Given the description of an element on the screen output the (x, y) to click on. 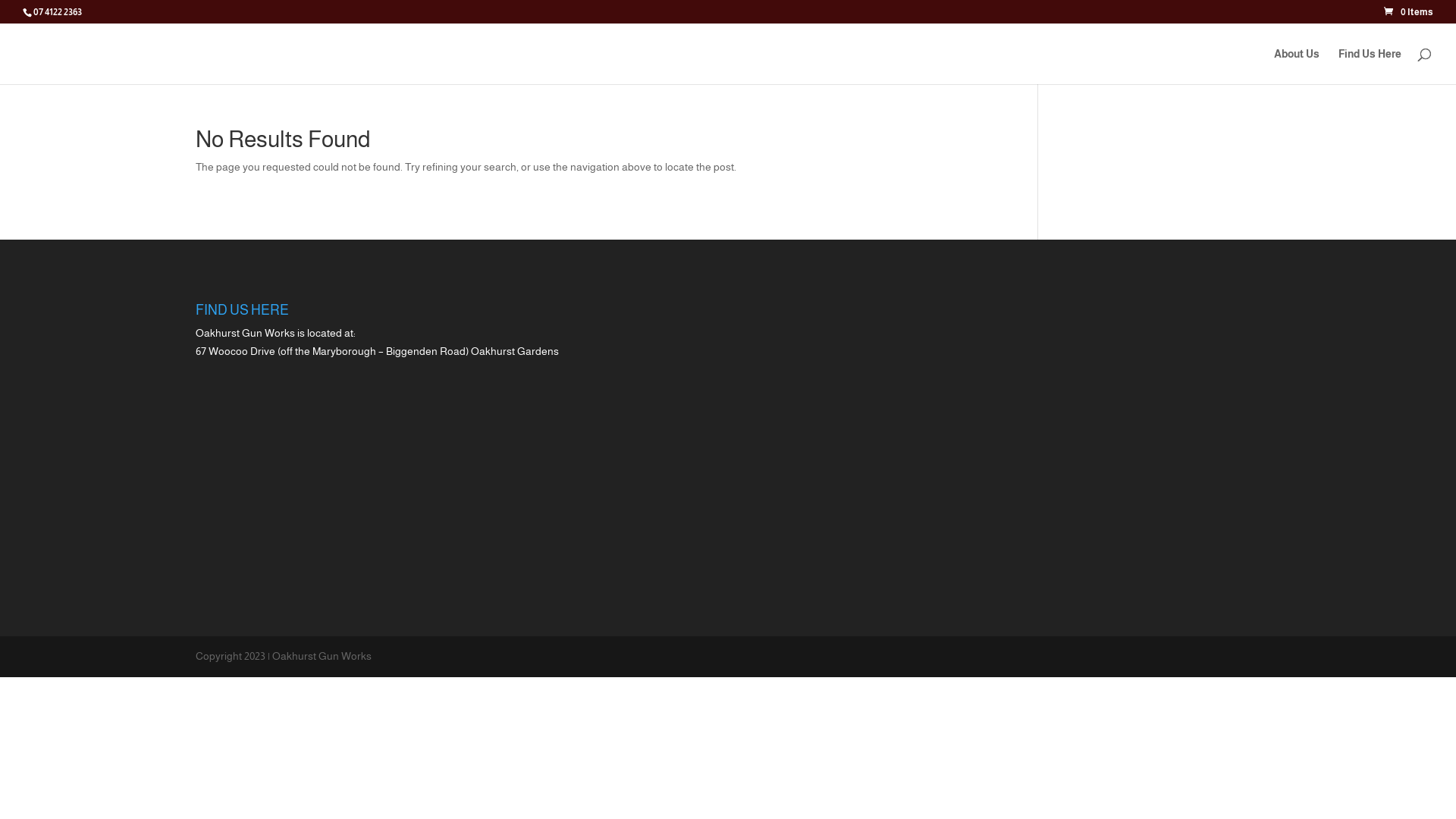
Find Us Here Element type: text (1369, 66)
0 Items Element type: text (1408, 11)
About Us Element type: text (1296, 66)
